Given the description of an element on the screen output the (x, y) to click on. 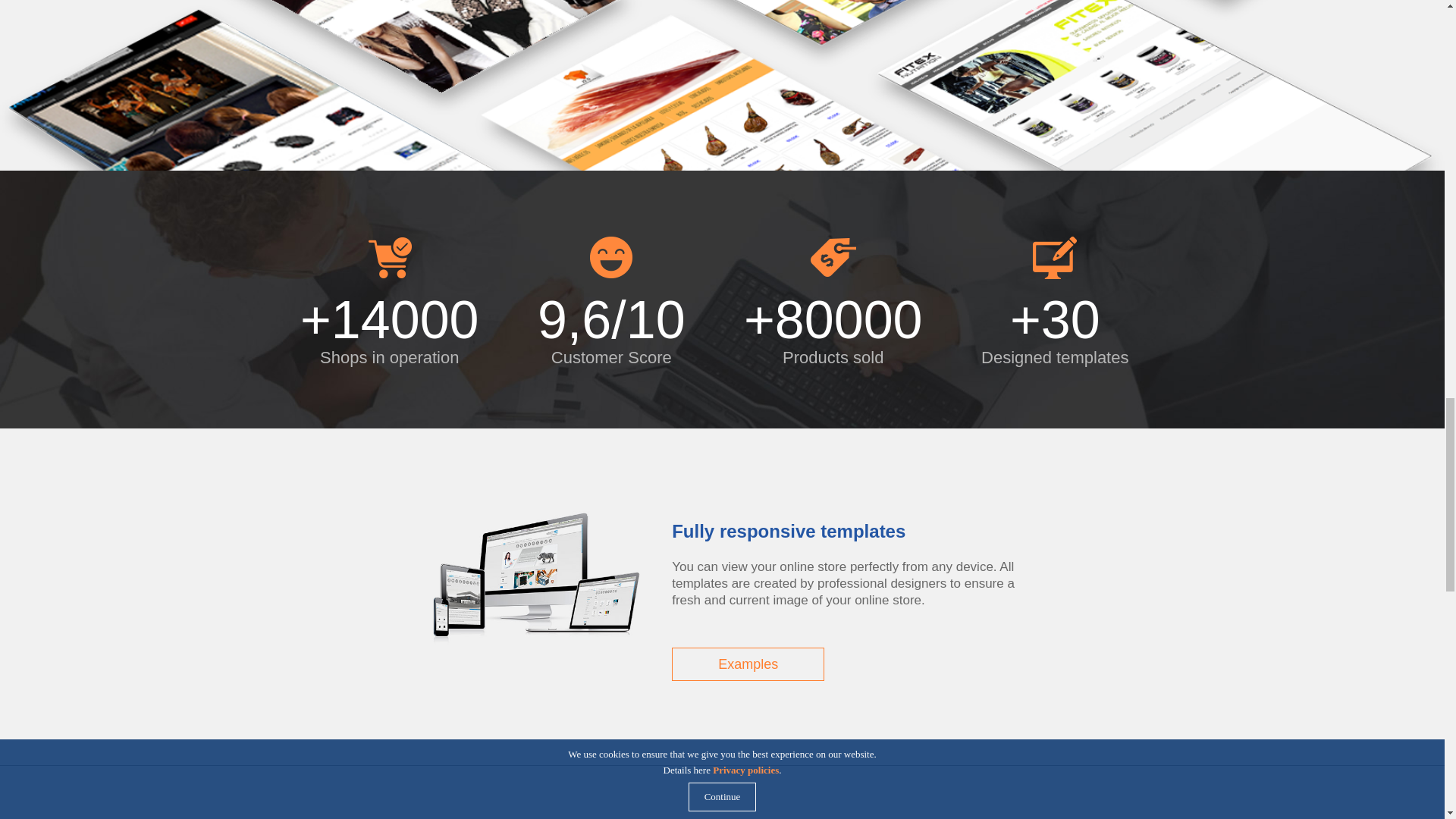
Examples (747, 663)
